Given the description of an element on the screen output the (x, y) to click on. 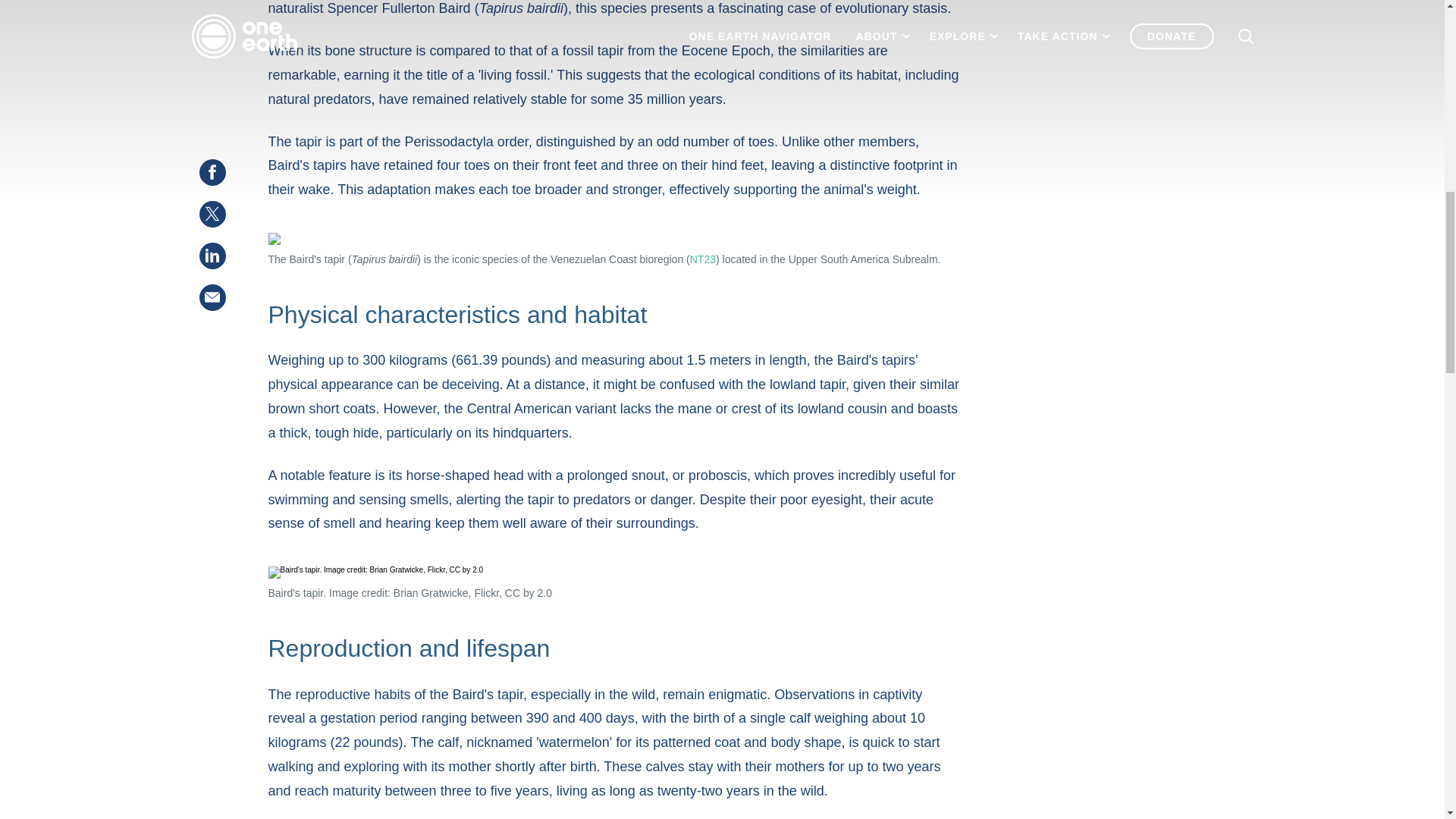
Baird's tapir. (614, 572)
